Given the description of an element on the screen output the (x, y) to click on. 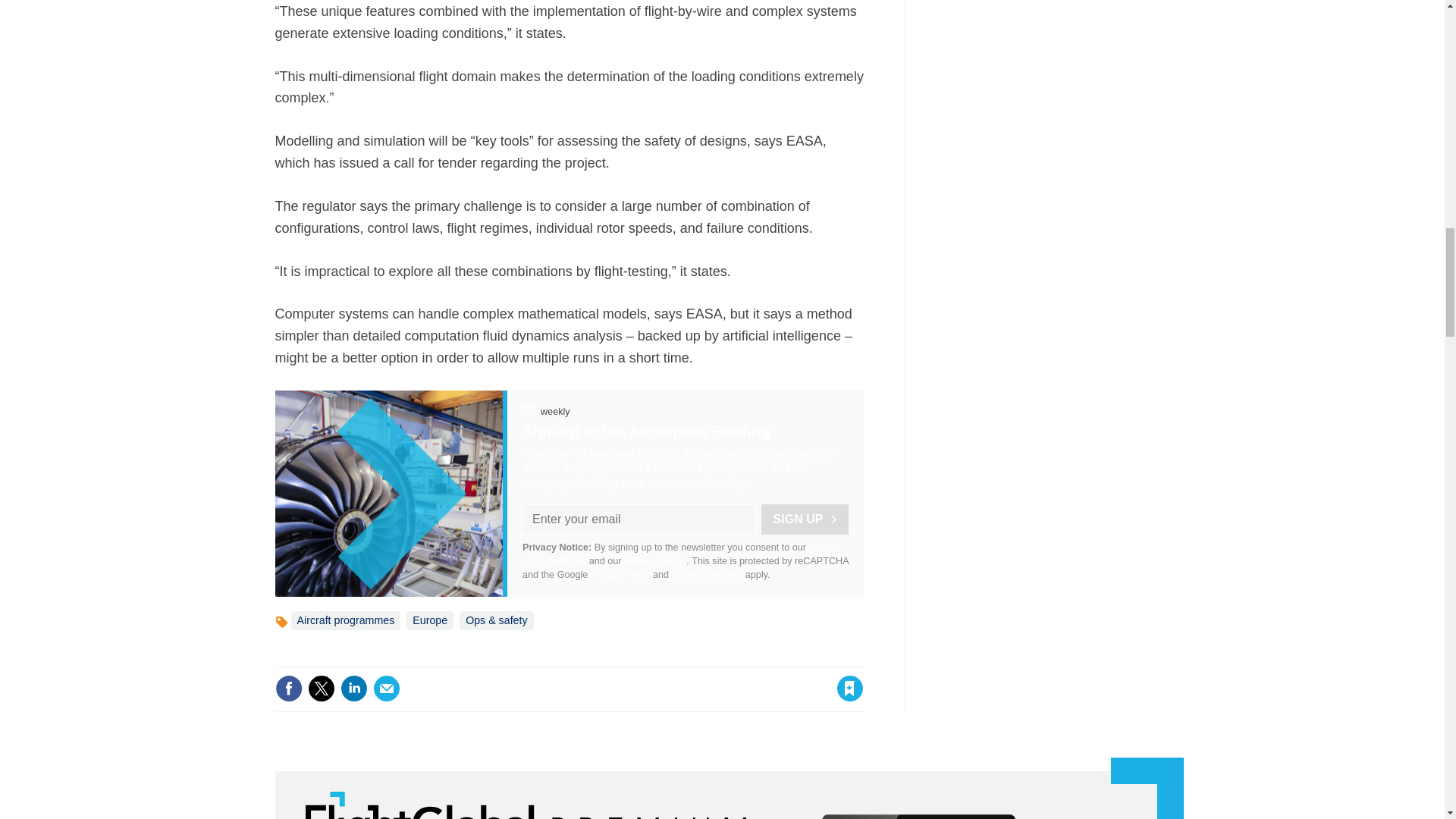
Email this article (386, 687)
Share this on Linked in (352, 687)
Share this on Twitter (320, 687)
Share this on Facebook (288, 687)
